Given the description of an element on the screen output the (x, y) to click on. 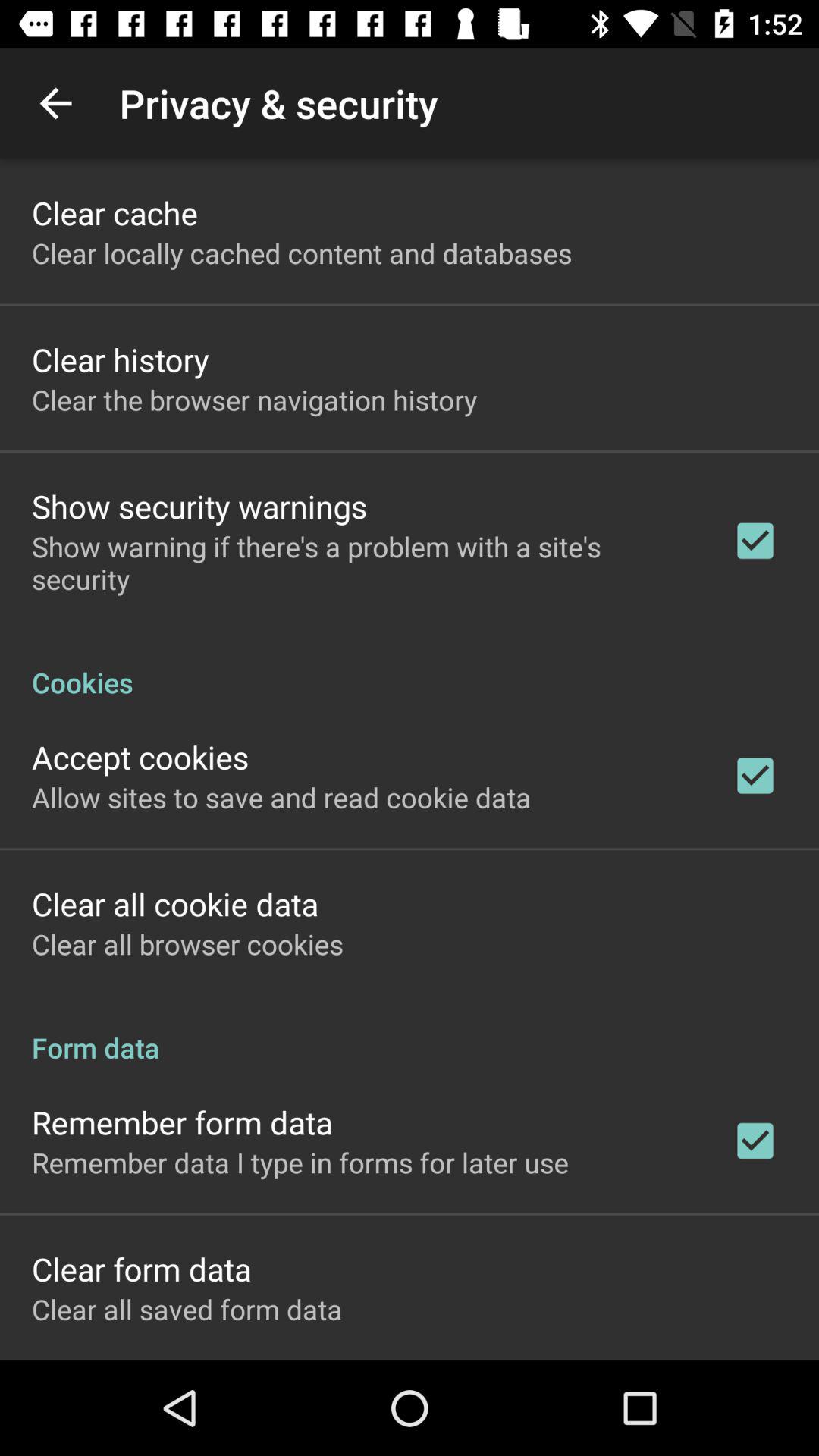
open item to the left of privacy & security (55, 103)
